Given the description of an element on the screen output the (x, y) to click on. 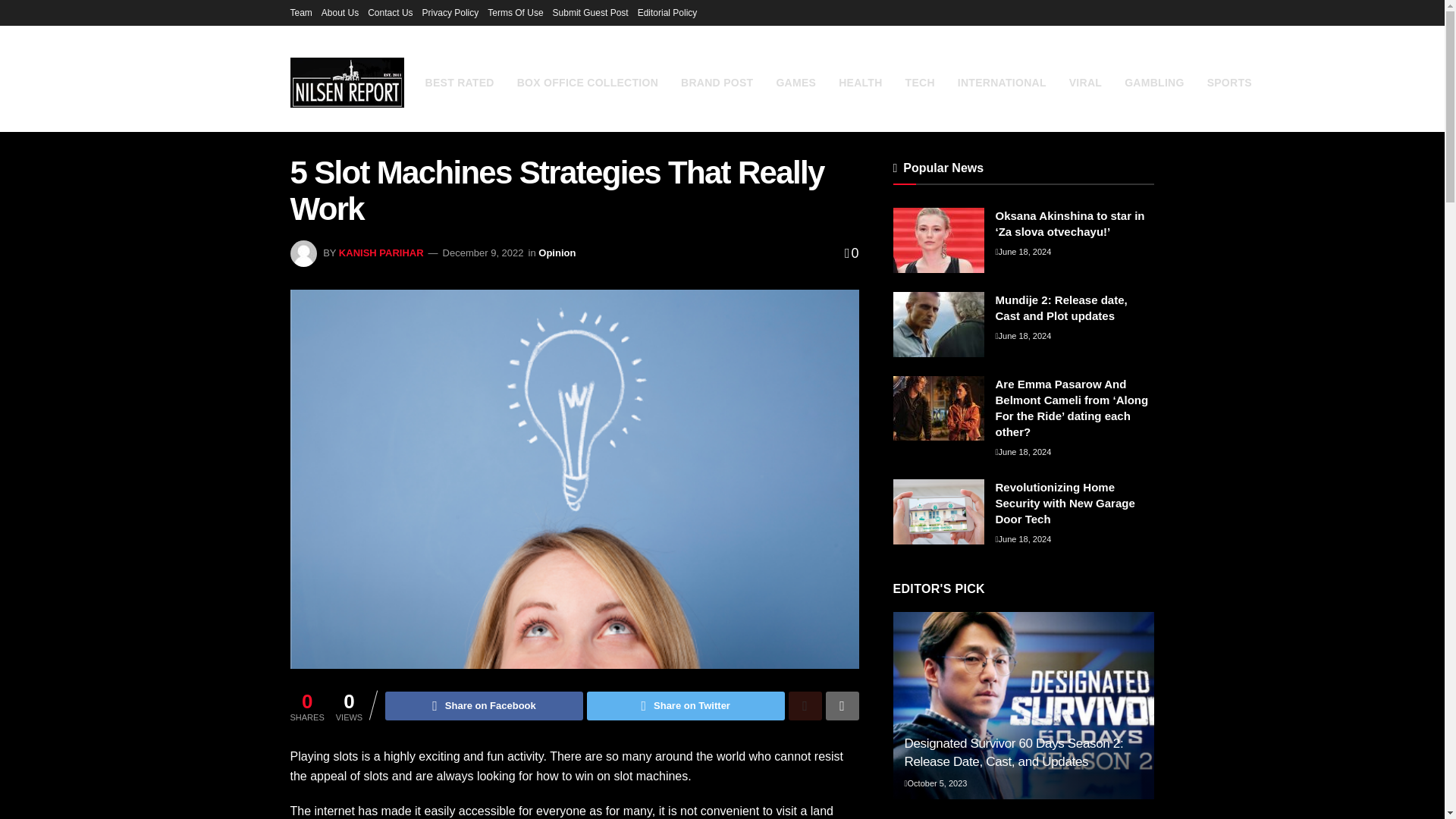
Contact Us (390, 12)
Share on Facebook (484, 705)
December 9, 2022 (483, 252)
BEST RATED (459, 82)
Privacy Policy (450, 12)
BRAND POST (716, 82)
Submit Guest Post (590, 12)
GAMES (795, 82)
SPORTS (1229, 82)
Terms Of Use (515, 12)
TECH (919, 82)
0 (851, 253)
GAMBLING (1153, 82)
INTERNATIONAL (1002, 82)
VIRAL (1085, 82)
